Given the description of an element on the screen output the (x, y) to click on. 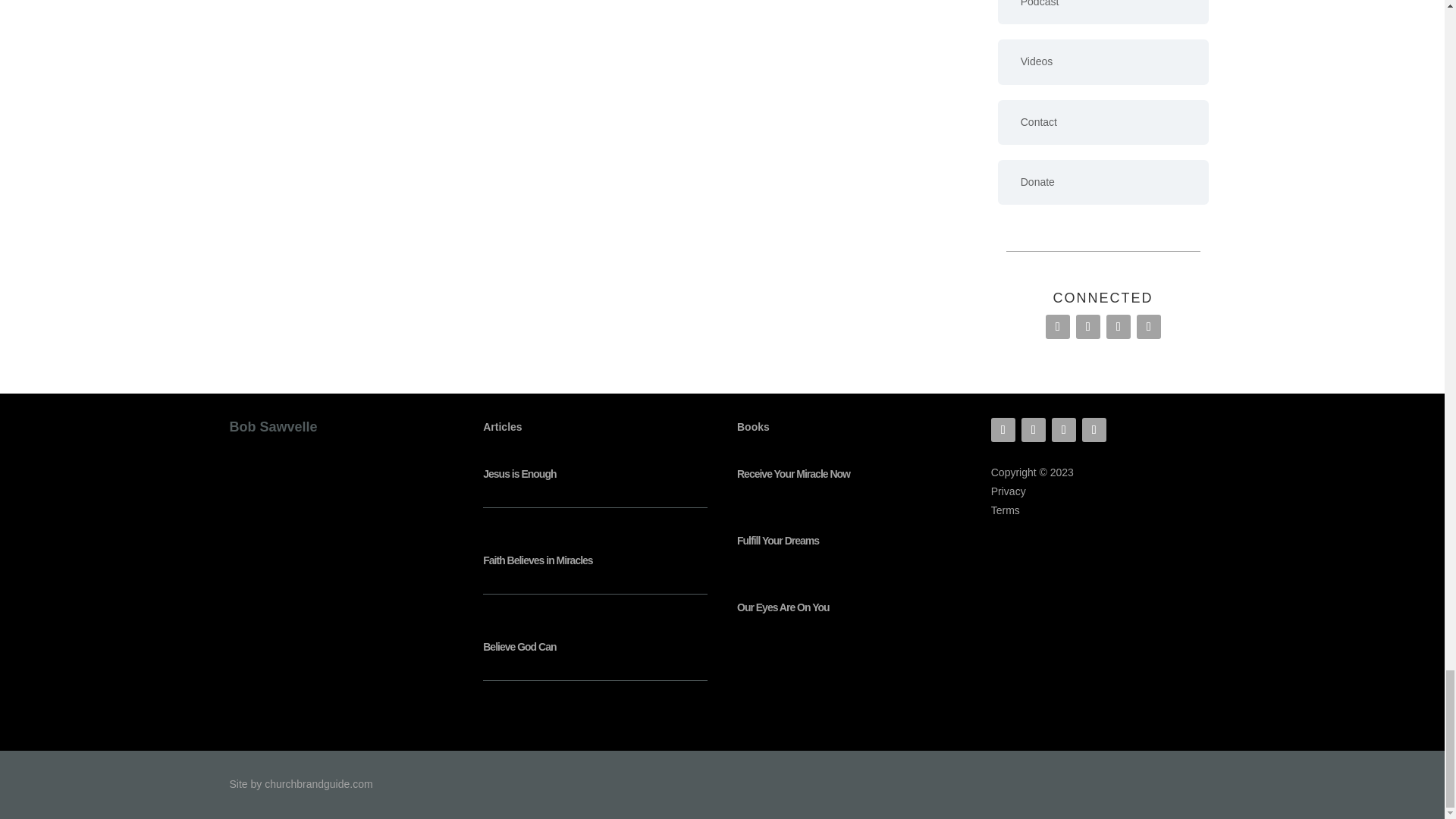
Follow on Instagram (1087, 326)
Follow on X (1118, 326)
Follow on Facebook (1002, 429)
Follow on Facebook (1057, 326)
Follow on Youtube (1148, 326)
